Given the description of an element on the screen output the (x, y) to click on. 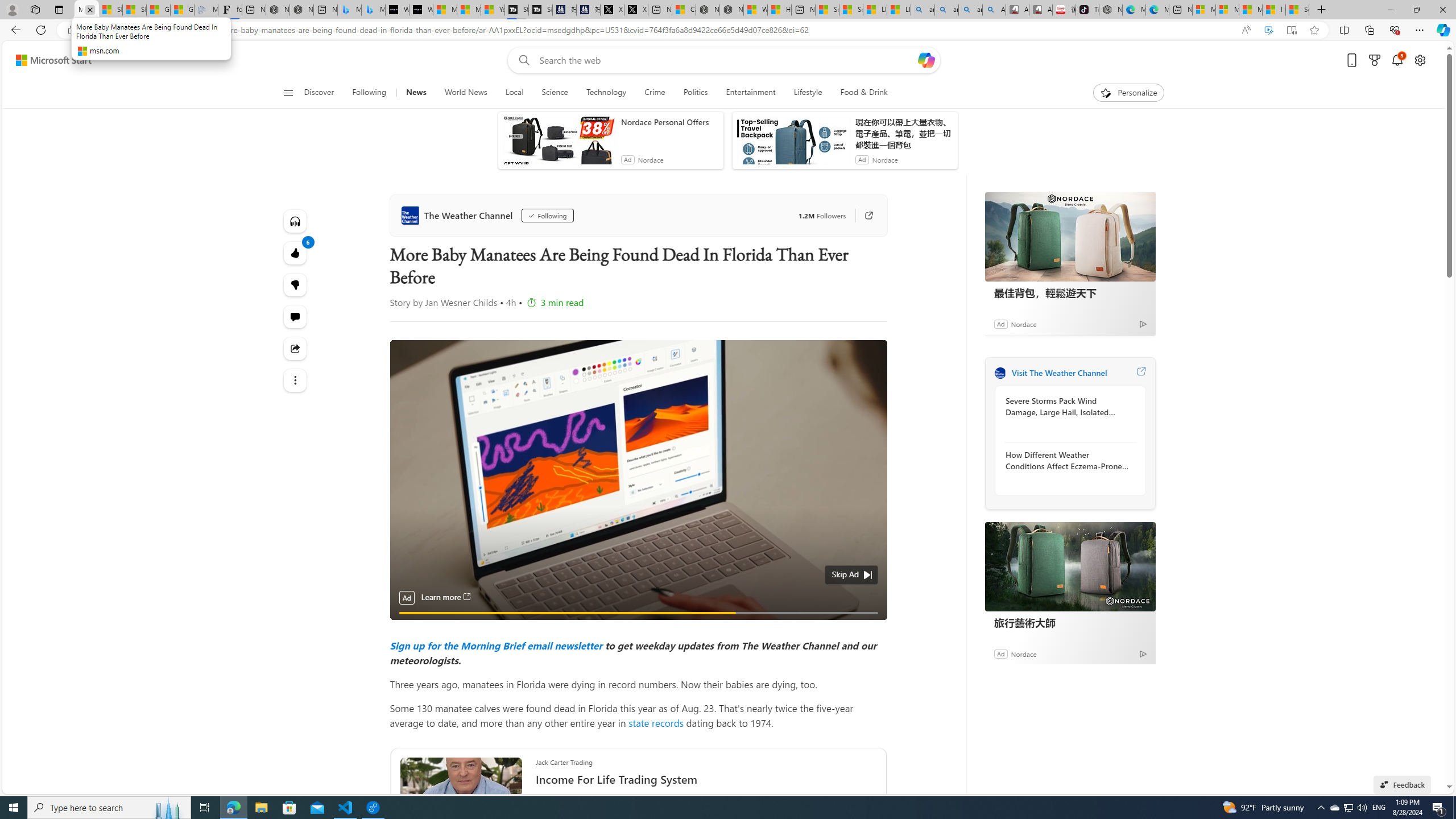
Crime (655, 92)
See more (295, 380)
Microsoft Bing Travel - Shangri-La Hotel Bangkok (373, 9)
I Gained 20 Pounds of Muscle in 30 Days! | Watch (1273, 9)
What's the best AI voice generator? - voice.ai (421, 9)
Nordace (1023, 653)
Politics (695, 92)
Dislike (295, 284)
Refresh (40, 29)
Microsoft Bing Travel - Stays in Bangkok, Bangkok, Thailand (349, 9)
App bar (728, 29)
Microsoft Start (53, 60)
